Given the description of an element on the screen output the (x, y) to click on. 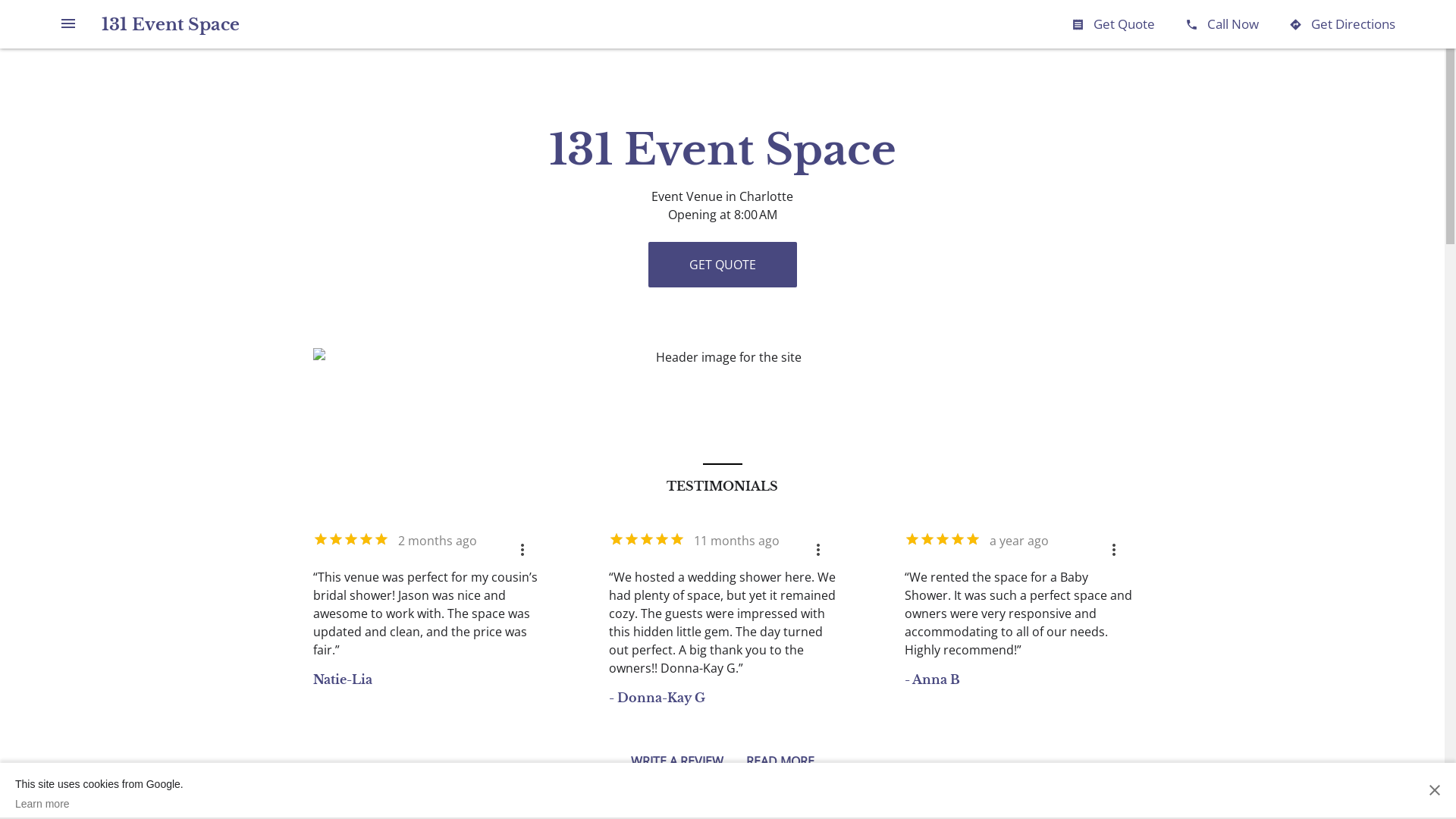
Learn more Element type: text (99, 803)
131 Event Space Element type: text (170, 23)
GET QUOTE Element type: text (721, 264)
WRITE A REVIEW Element type: text (676, 764)
READ MORE Element type: text (780, 764)
